Given the description of an element on the screen output the (x, y) to click on. 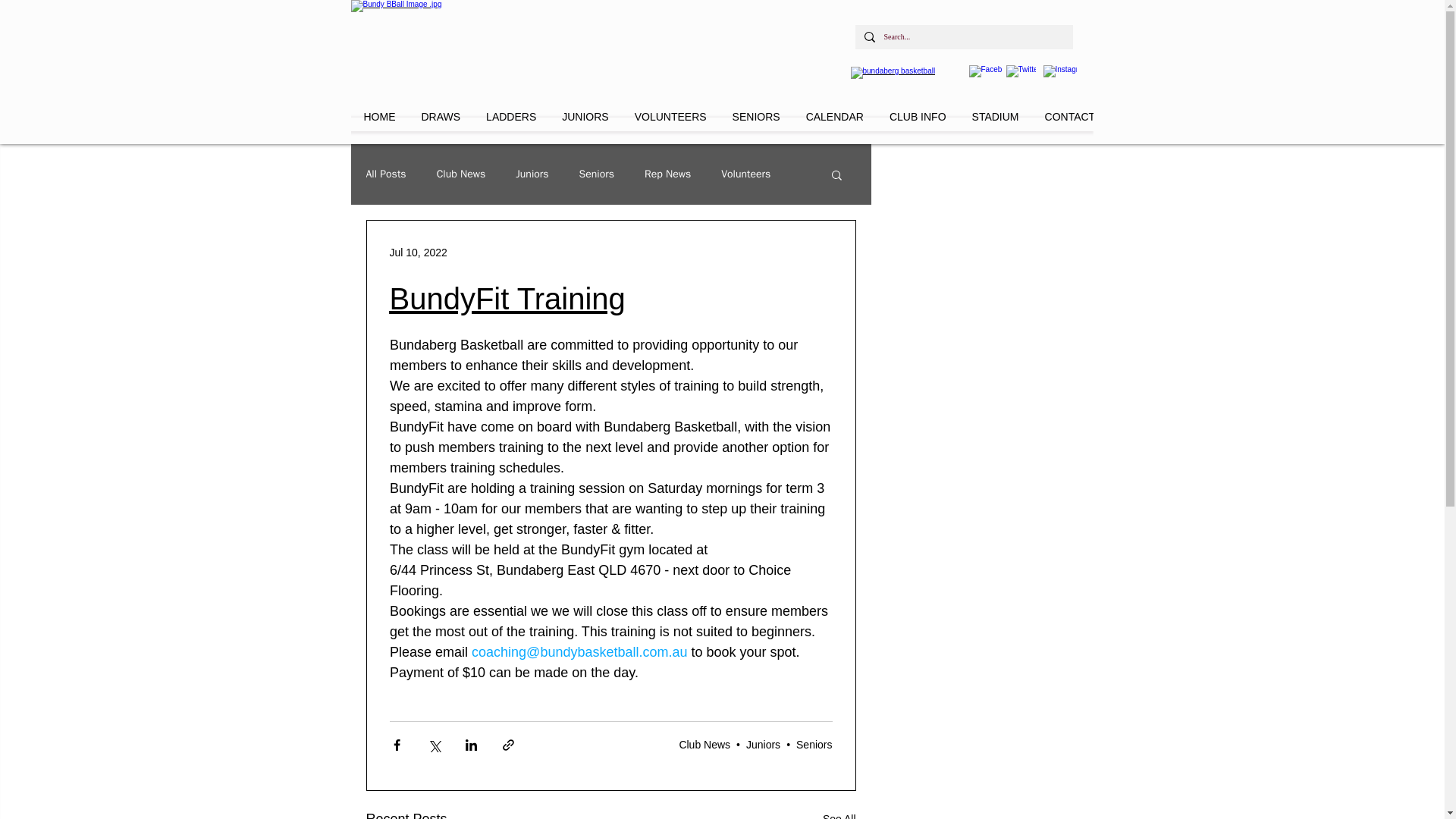
Club News (461, 173)
Volunteers (745, 173)
Seniors (596, 173)
bundaberg basketball (517, 53)
HOME (378, 123)
CALENDAR (834, 123)
Rep News (667, 173)
Jul 10, 2022 (418, 251)
Juniors (531, 173)
All Posts (385, 173)
Basketball Queensland (900, 80)
